Given the description of an element on the screen output the (x, y) to click on. 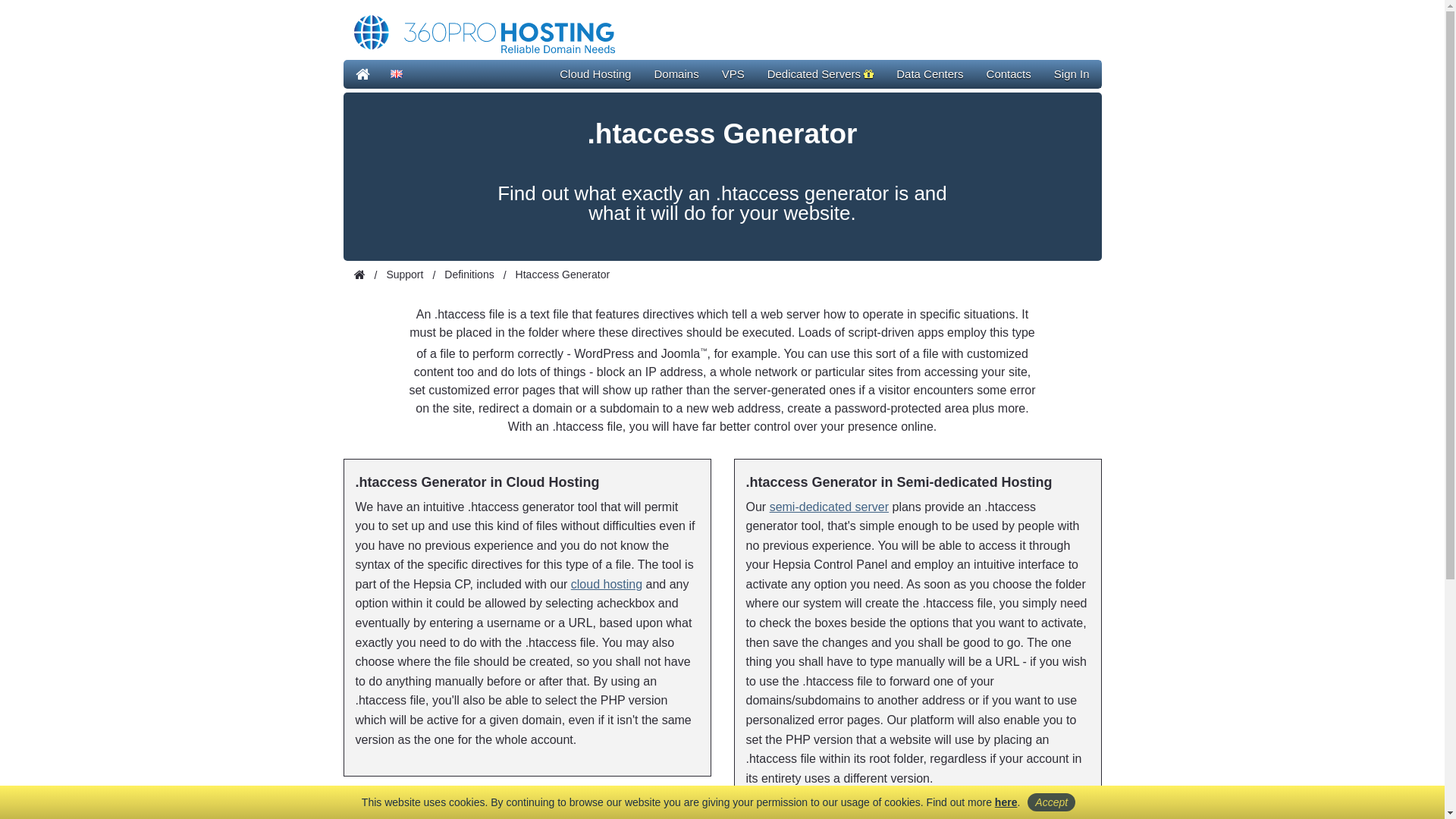
Contacts Element type: text (1008, 73)
Domains Element type: text (675, 73)
Support Element type: text (404, 274)
Dedicated Servers Element type: text (820, 73)
Accept Element type: text (1051, 802)
cloud hosting Element type: text (606, 583)
Sign In Element type: text (1071, 73)
Cloud Hosting Element type: text (595, 73)
here Element type: text (1005, 802)
Htaccess Generator Element type: text (562, 274)
Data Centers Element type: text (929, 73)
semi-dedicated server Element type: text (828, 506)
360ProHosting Element type: hover (361, 73)
360ProHosting Element type: hover (482, 31)
VPS Element type: text (733, 73)
Definitions Element type: text (468, 274)
